Given the description of an element on the screen output the (x, y) to click on. 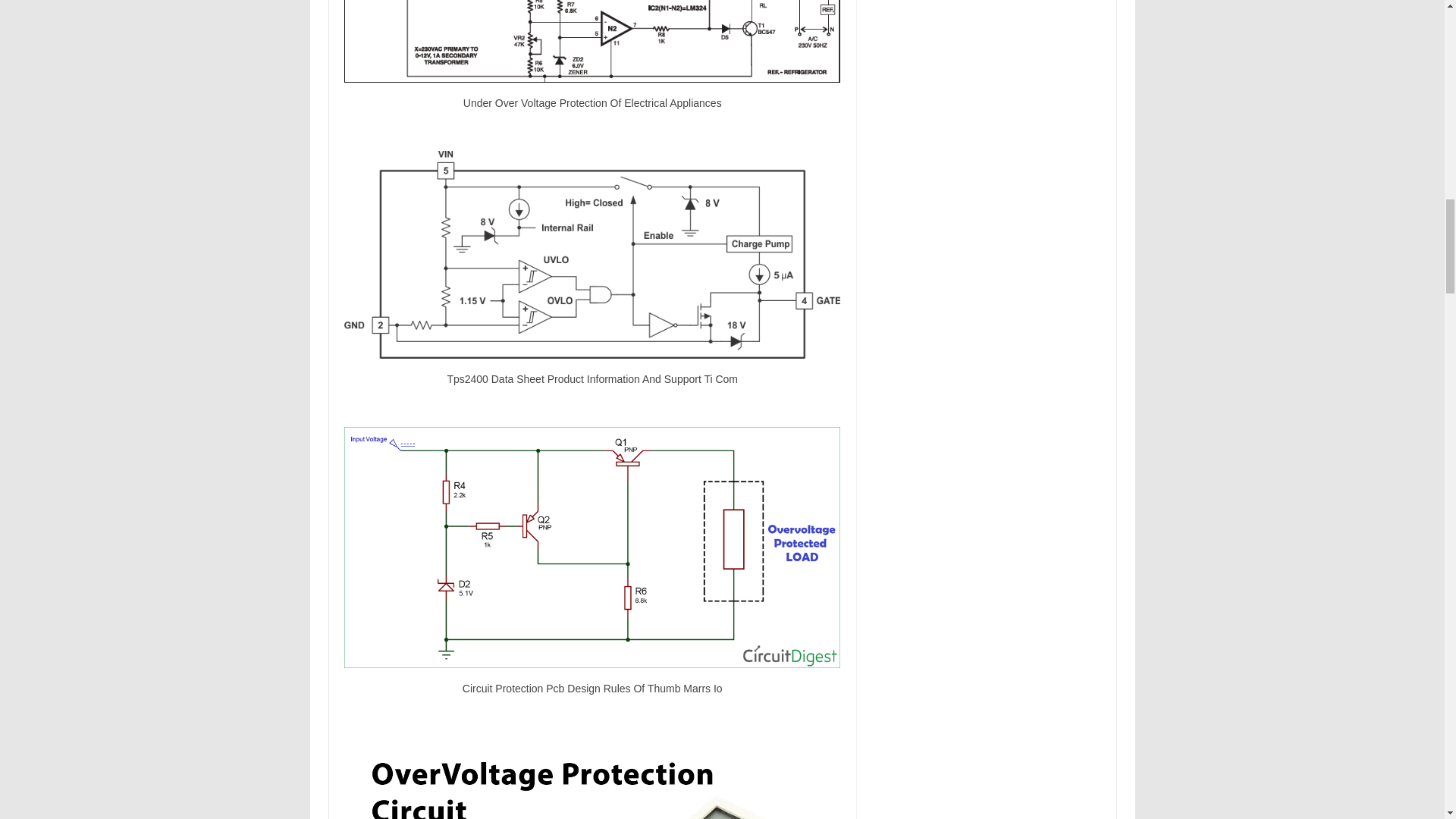
Circuit Protection Pcb Design Rules Of Thumb Marrs Io (591, 547)
Tps2400 Data Sheet Product Information And Support Ti Com (591, 254)
Simple Overvoltage Protection Circuit (591, 777)
Under Over Voltage Protection Of Electrical Appliances (591, 41)
